Given the description of an element on the screen output the (x, y) to click on. 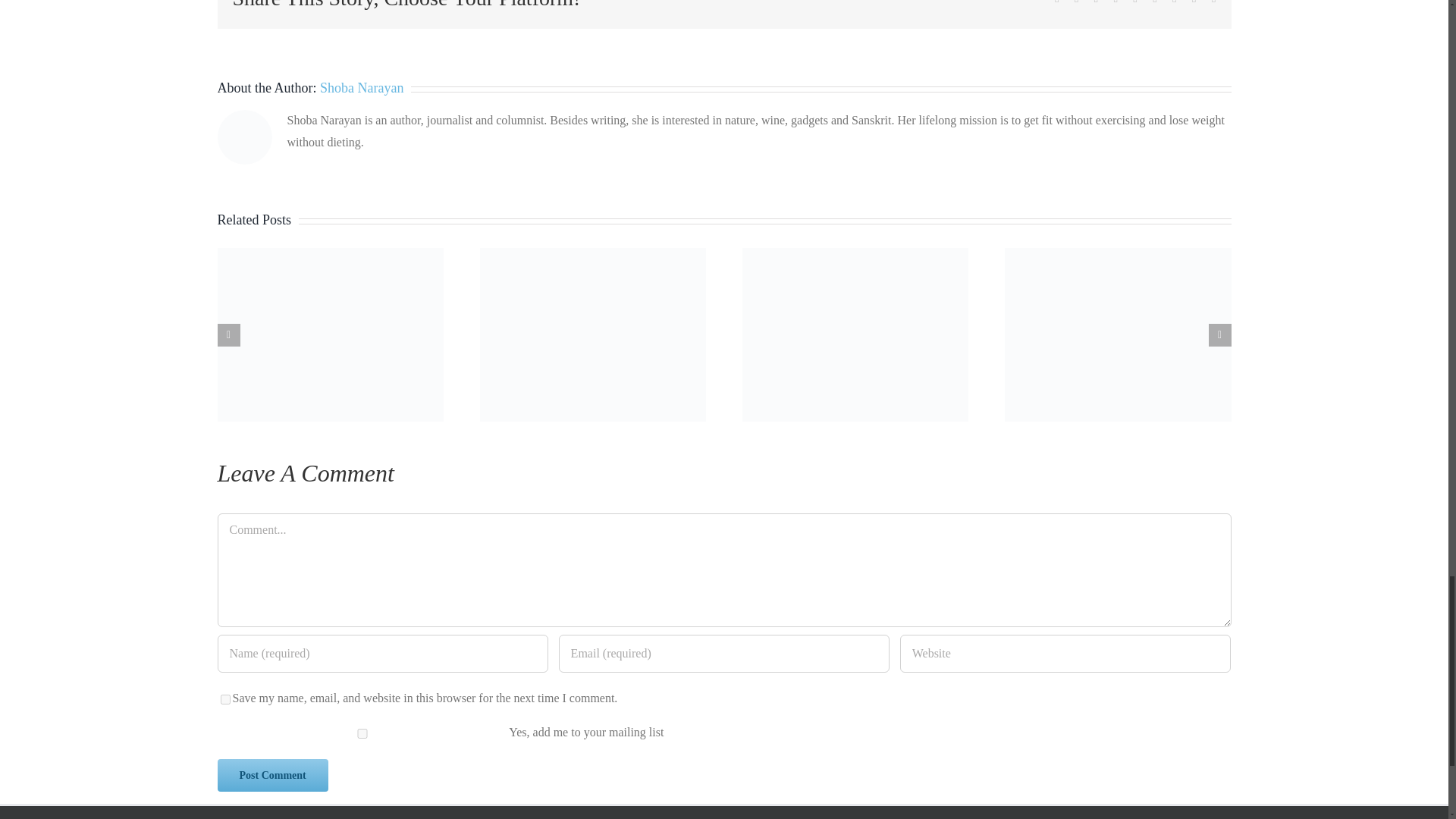
Post Comment (271, 775)
yes (224, 699)
1 (361, 733)
